Given the description of an element on the screen output the (x, y) to click on. 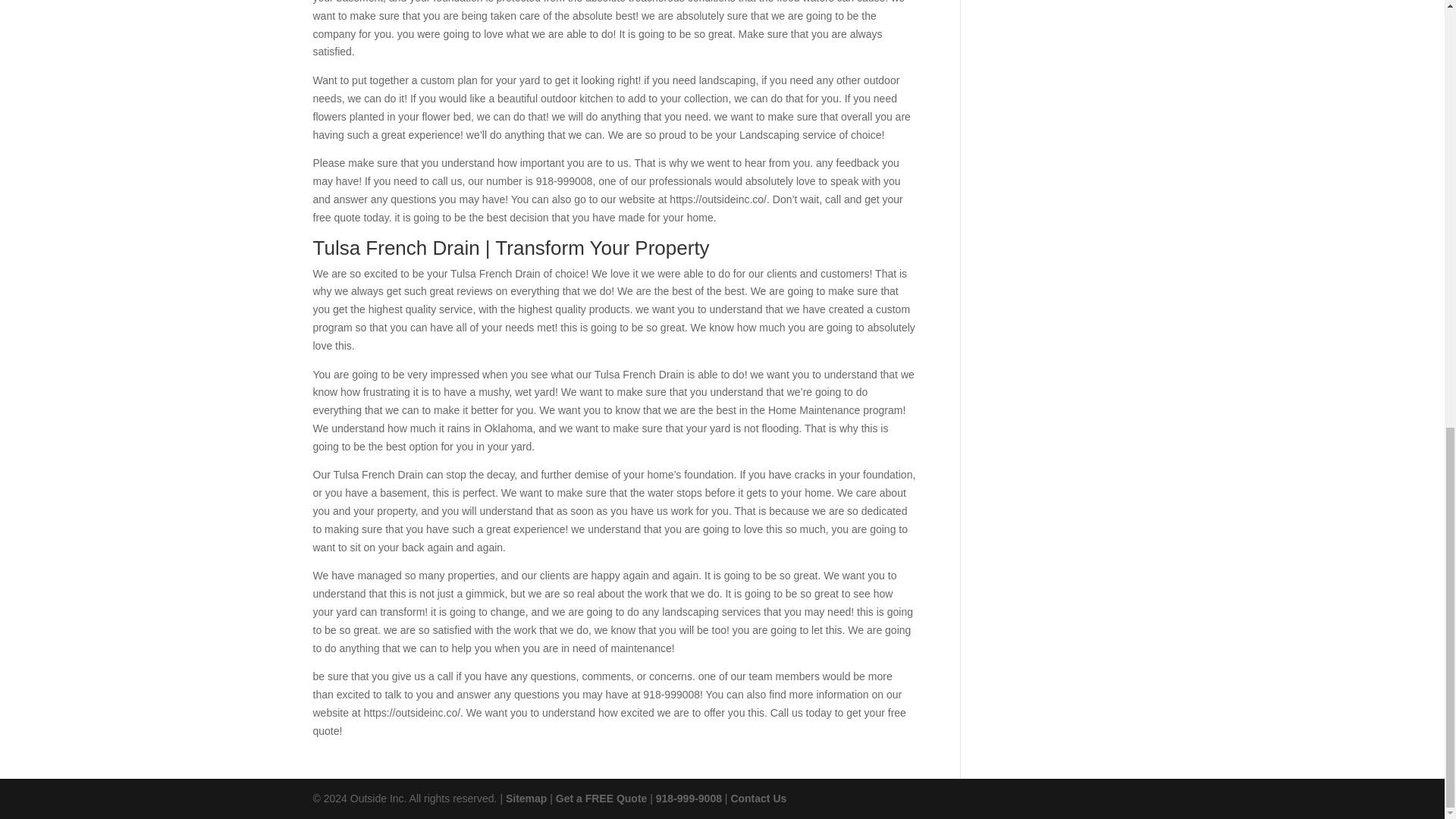
Contact Us (758, 798)
Get a FREE Quote (601, 798)
918-999-9008 (689, 798)
Sitemap (526, 798)
